Given the description of an element on the screen output the (x, y) to click on. 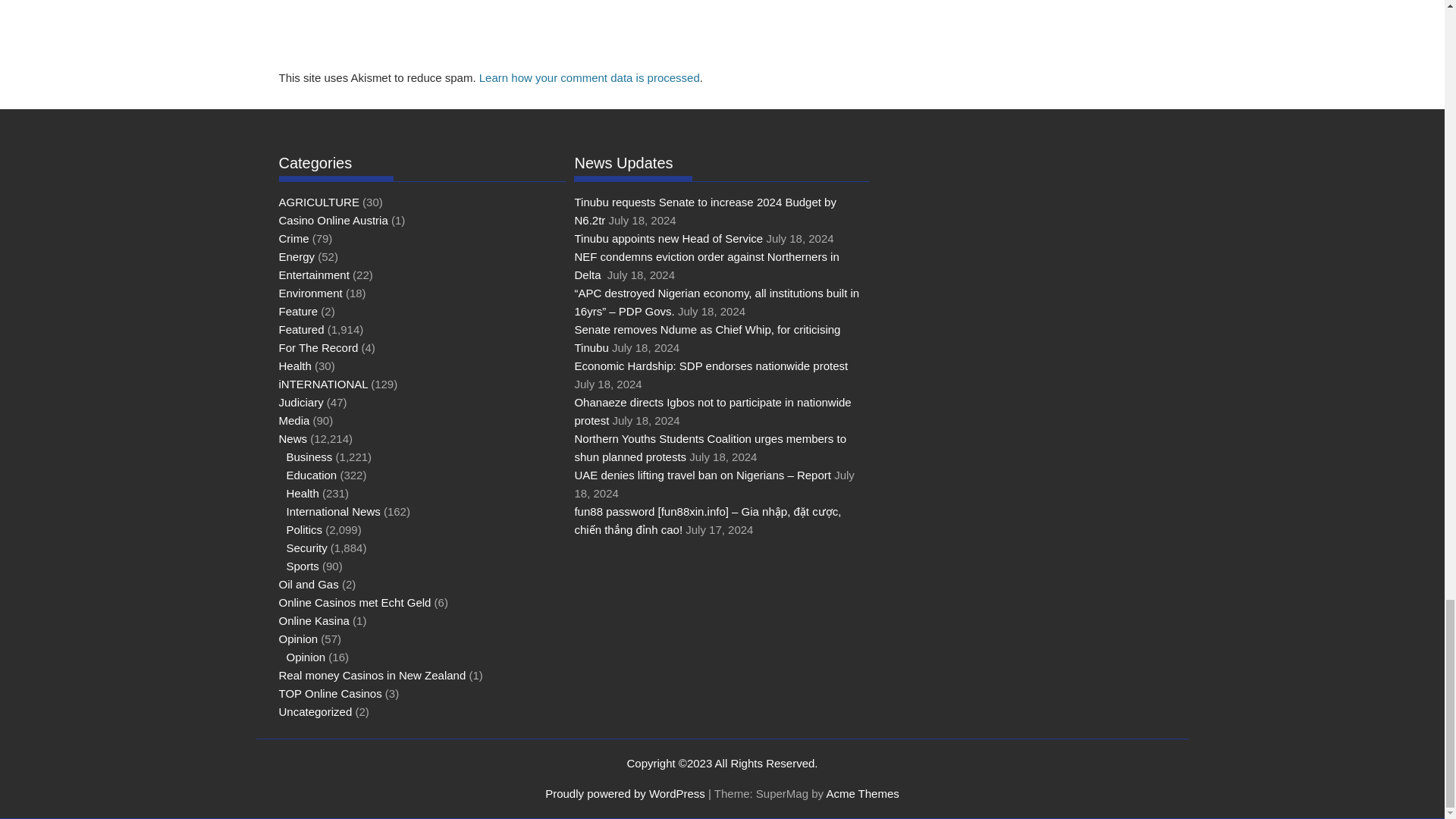
Comment Form (580, 31)
